Given the description of an element on the screen output the (x, y) to click on. 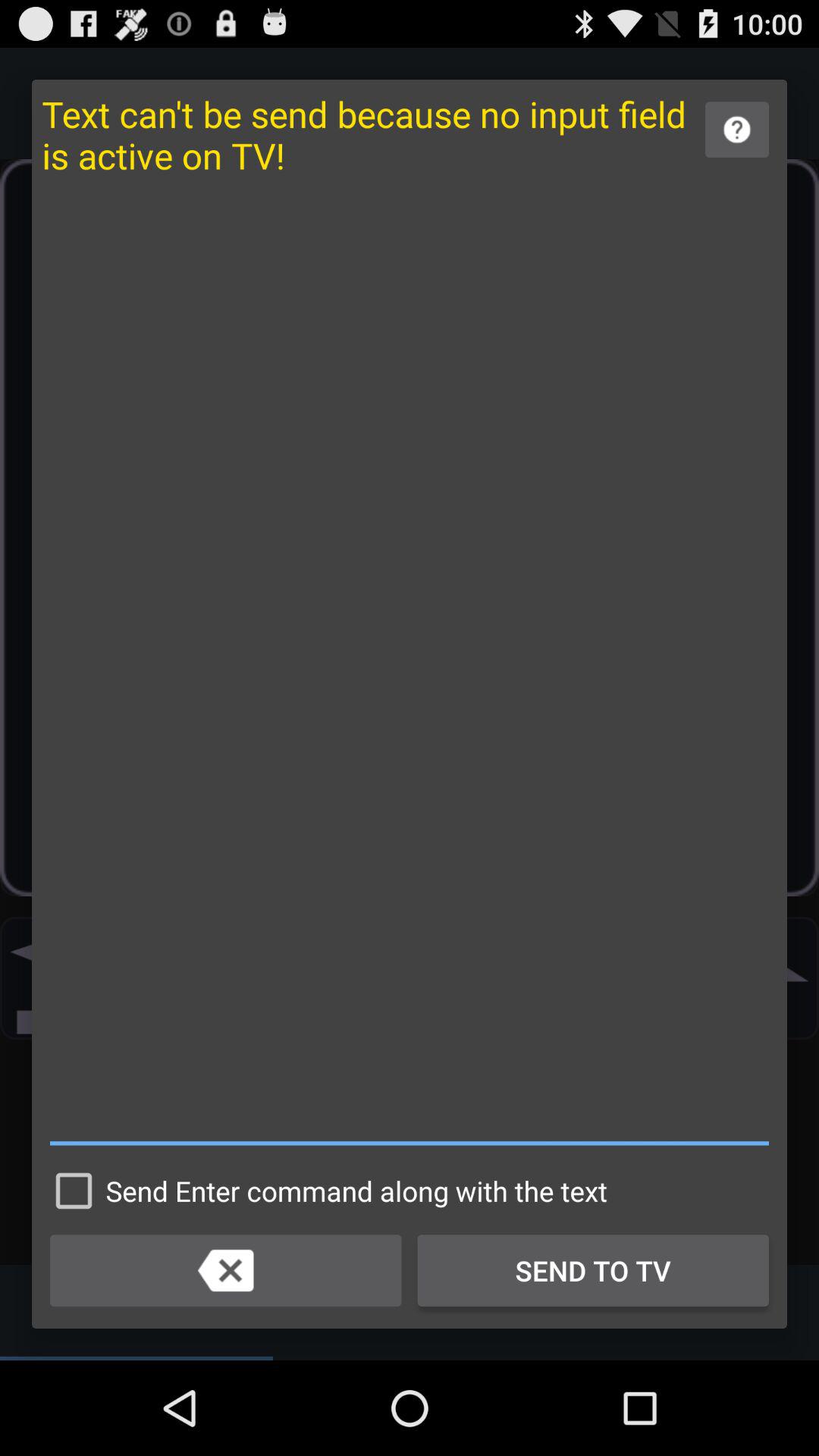
learn more (736, 129)
